Given the description of an element on the screen output the (x, y) to click on. 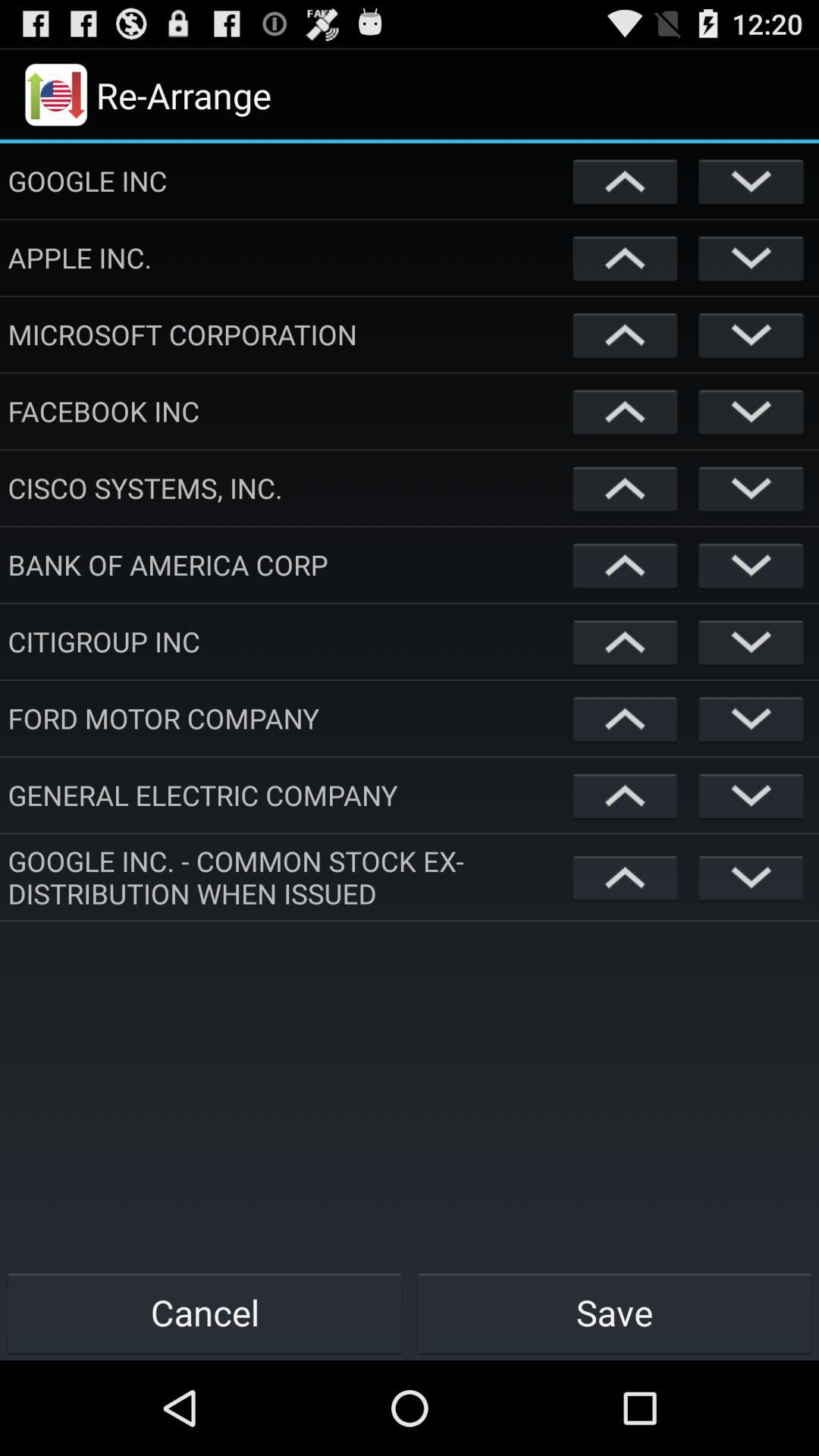
scroll until microsoft corporation icon (286, 334)
